Given the description of an element on the screen output the (x, y) to click on. 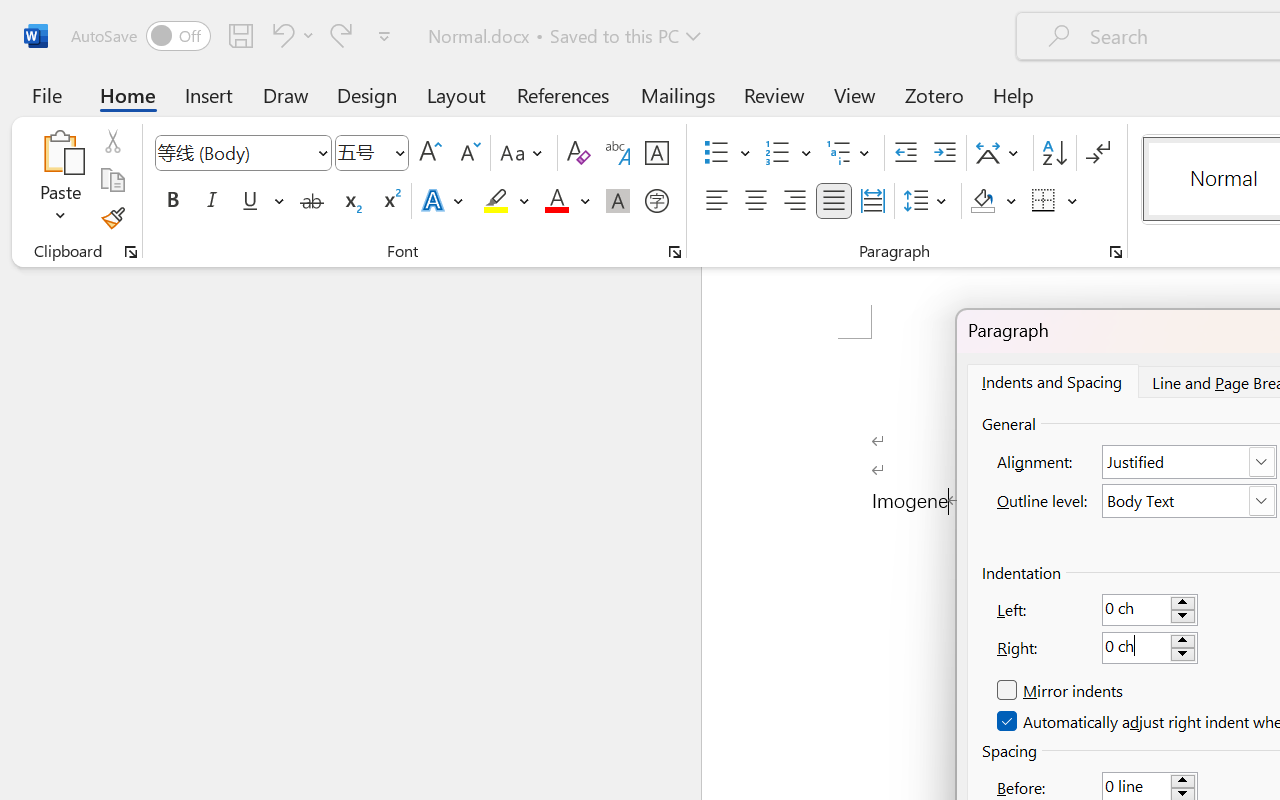
Sort... (1054, 153)
Align Left (716, 201)
RichEdit Control (1136, 647)
Undo Typing (290, 35)
Font... (675, 252)
Paragraph... (1115, 252)
Align Right (794, 201)
Font Color RGB(255, 0, 0) (556, 201)
Grow Font (430, 153)
Italic (212, 201)
